Given the description of an element on the screen output the (x, y) to click on. 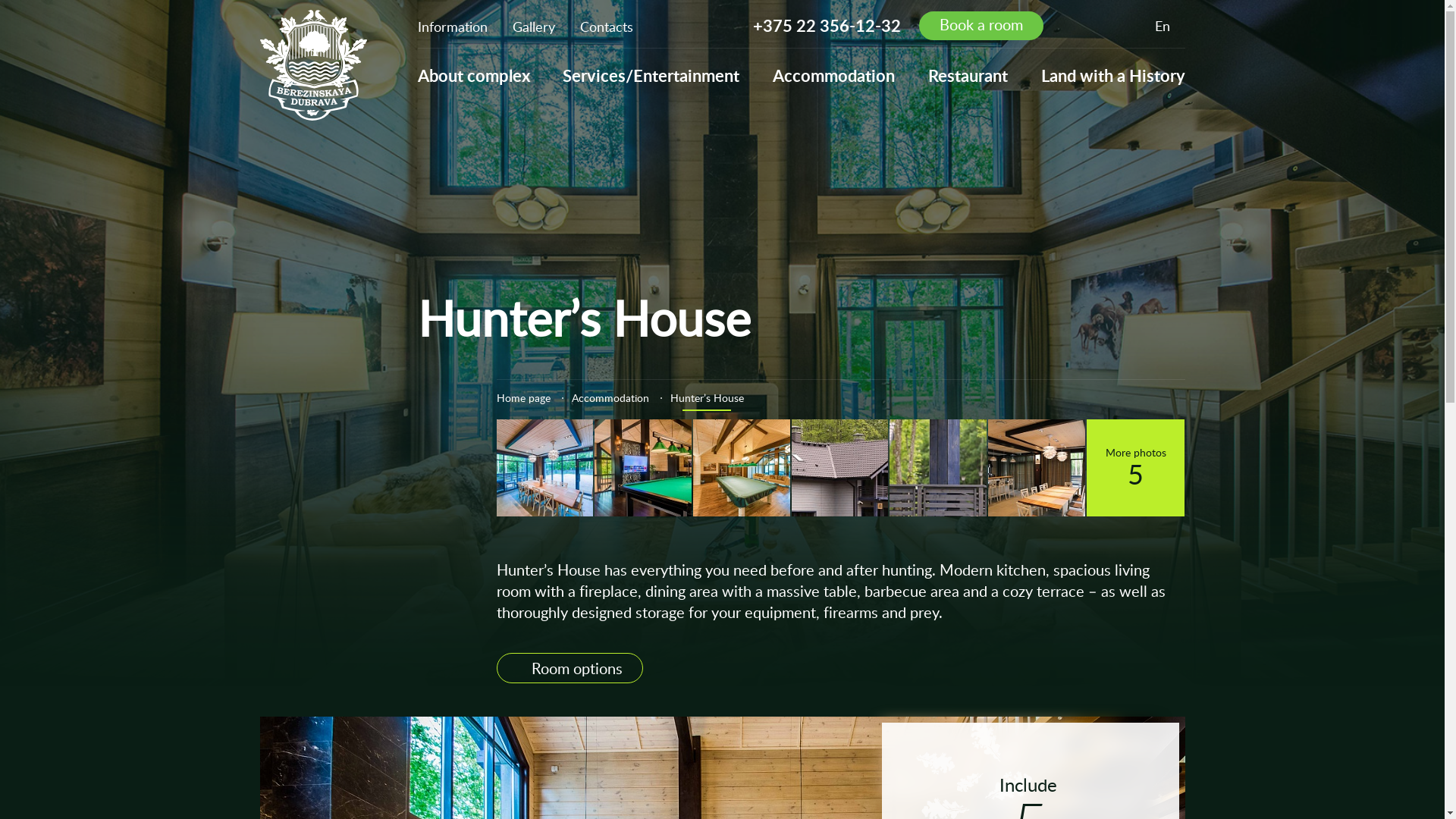
Home page Element type: text (522, 397)
Accommodation Element type: text (610, 397)
Services/Entertainment Element type: text (650, 75)
Restaurant Element type: text (967, 75)
Room options Element type: text (568, 667)
Land with a History Element type: text (1112, 75)
Book a room Element type: text (981, 25)
More photos
5 Element type: text (1135, 467)
+375 22 356-12-32 Element type: text (826, 25)
About complex Element type: text (473, 75)
Information Element type: text (451, 26)
Contacts Element type: text (605, 26)
Accommodation Element type: text (833, 75)
Gallery Element type: text (533, 26)
